Given the description of an element on the screen output the (x, y) to click on. 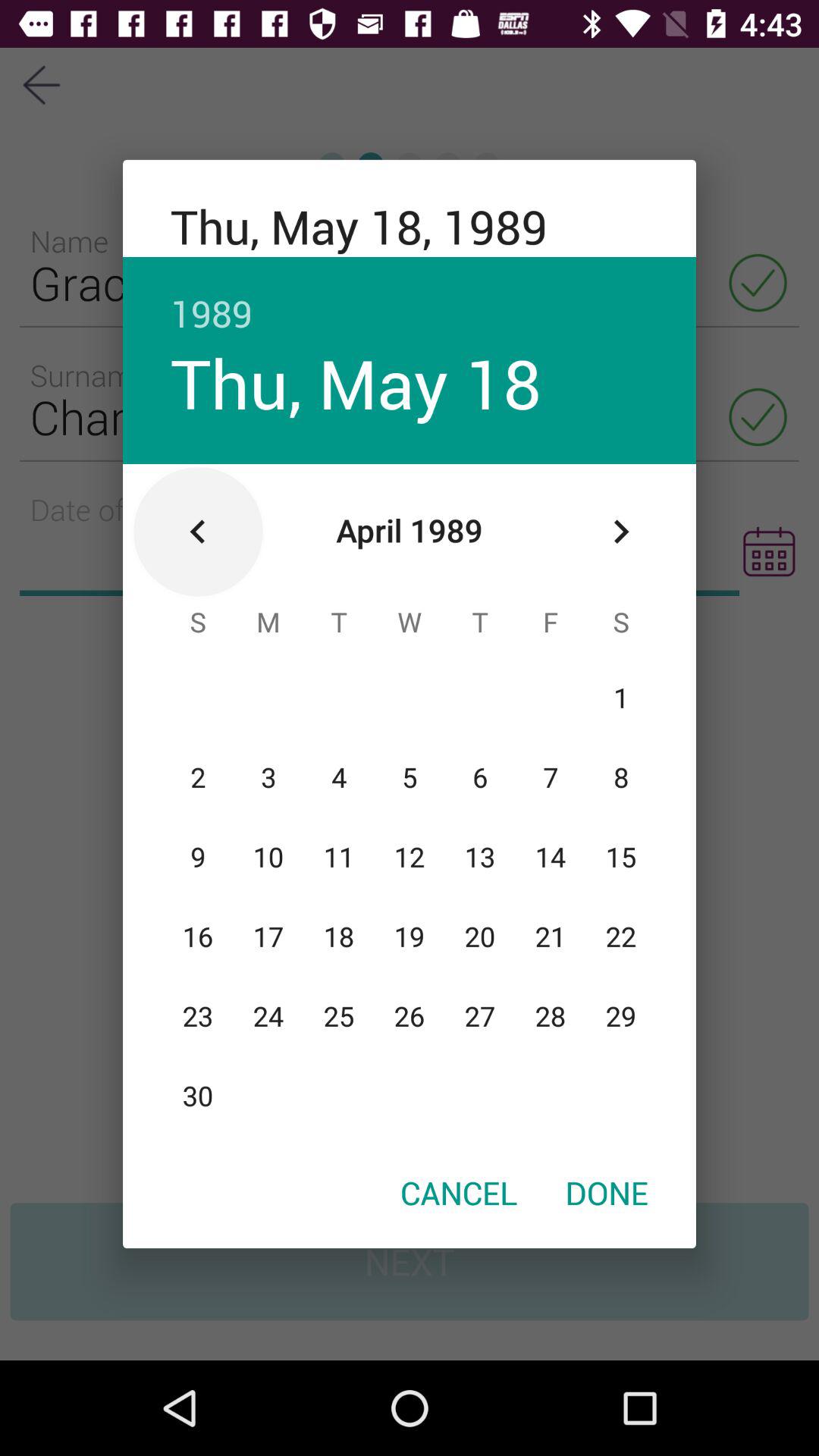
turn off the done (606, 1192)
